Given the description of an element on the screen output the (x, y) to click on. 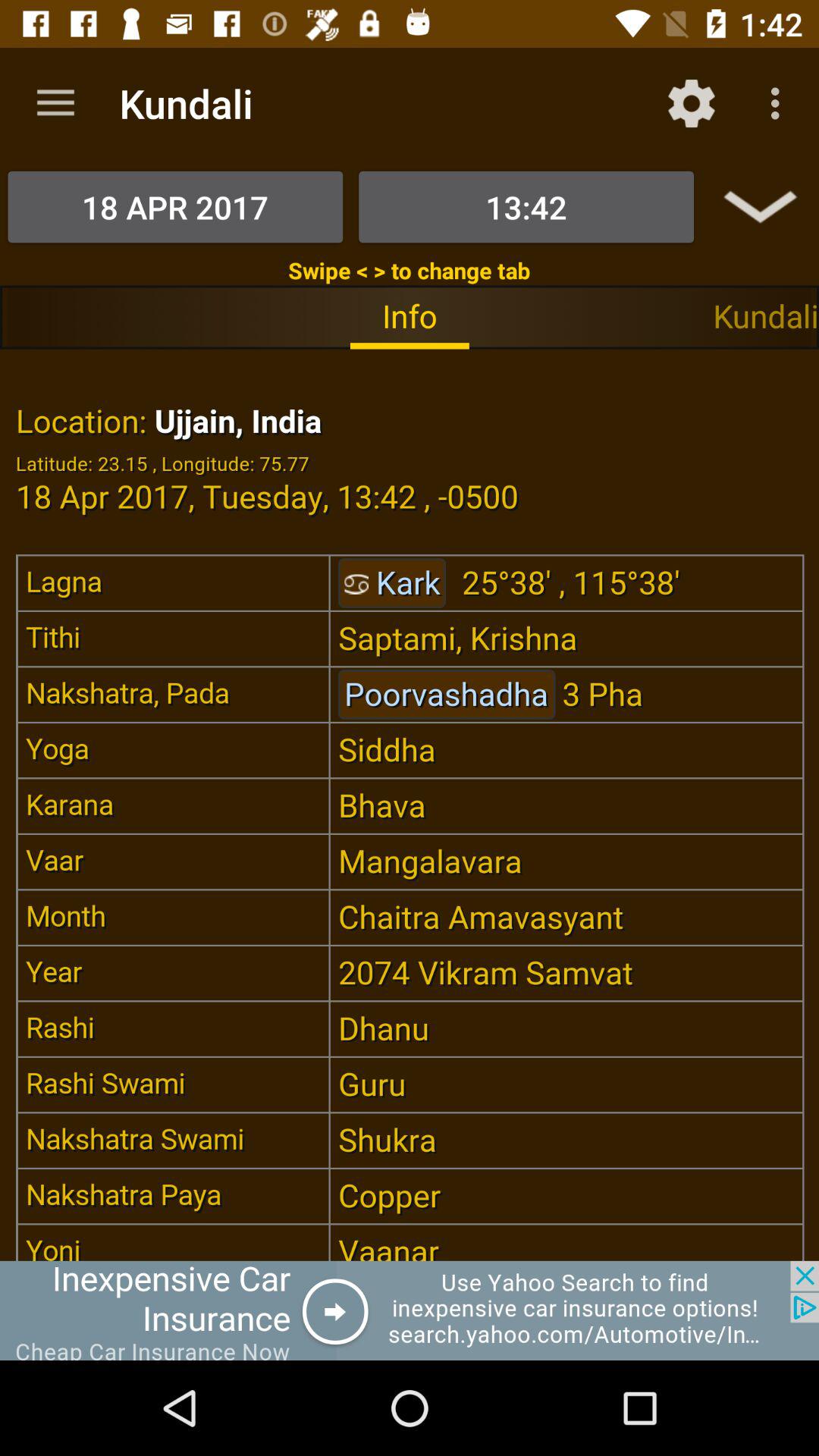
screen page (409, 804)
